Given the description of an element on the screen output the (x, y) to click on. 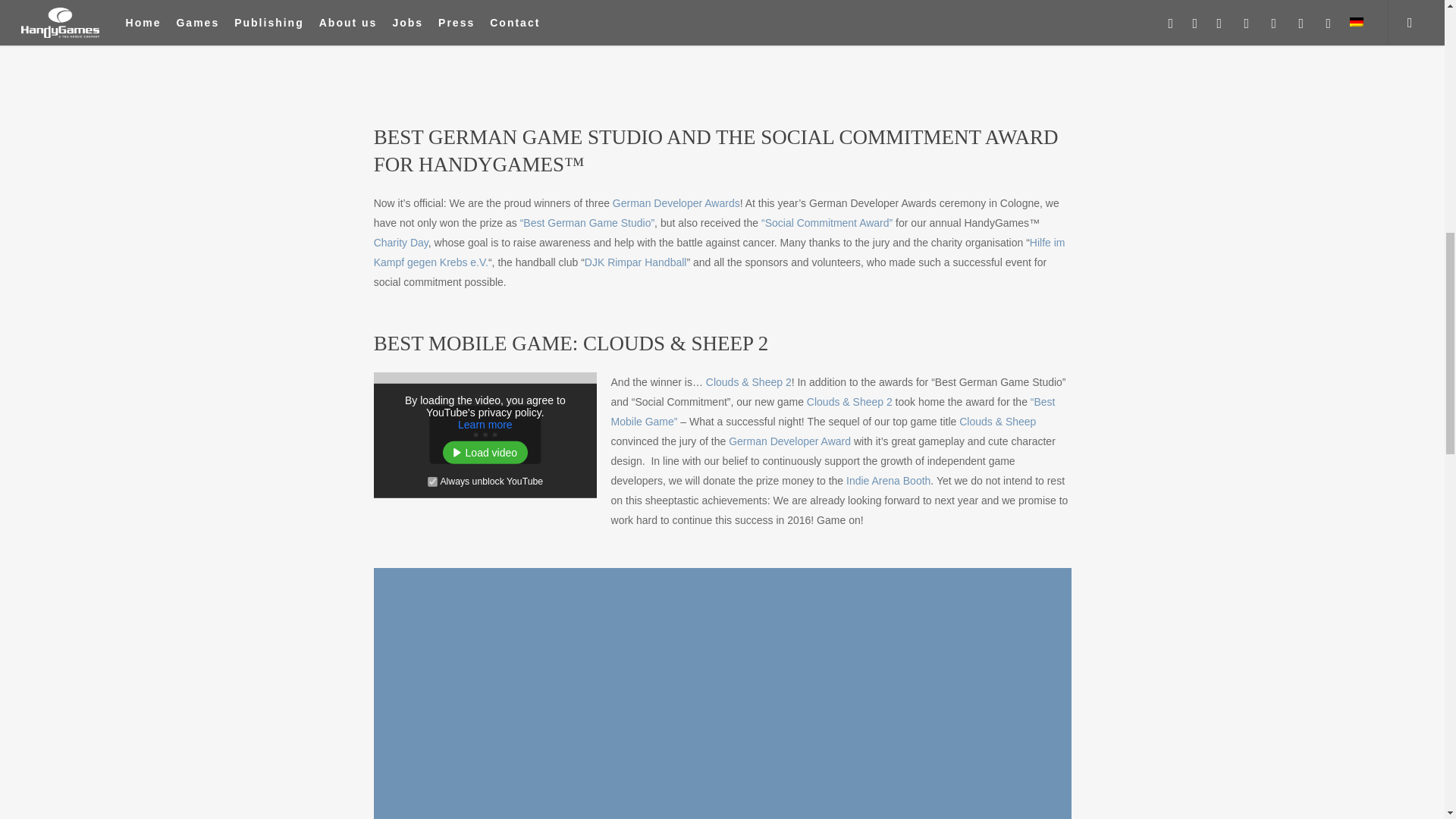
Indie Arena Booth (887, 480)
Charity Day (401, 242)
DJK Rimpar Handball (636, 262)
German Developer Awards (675, 203)
German Developer Award (789, 440)
1 (433, 481)
Learn more (485, 424)
Load video (485, 452)
Hilfe im Kampf gegen Krebs e.V. (719, 252)
